Given the description of an element on the screen output the (x, y) to click on. 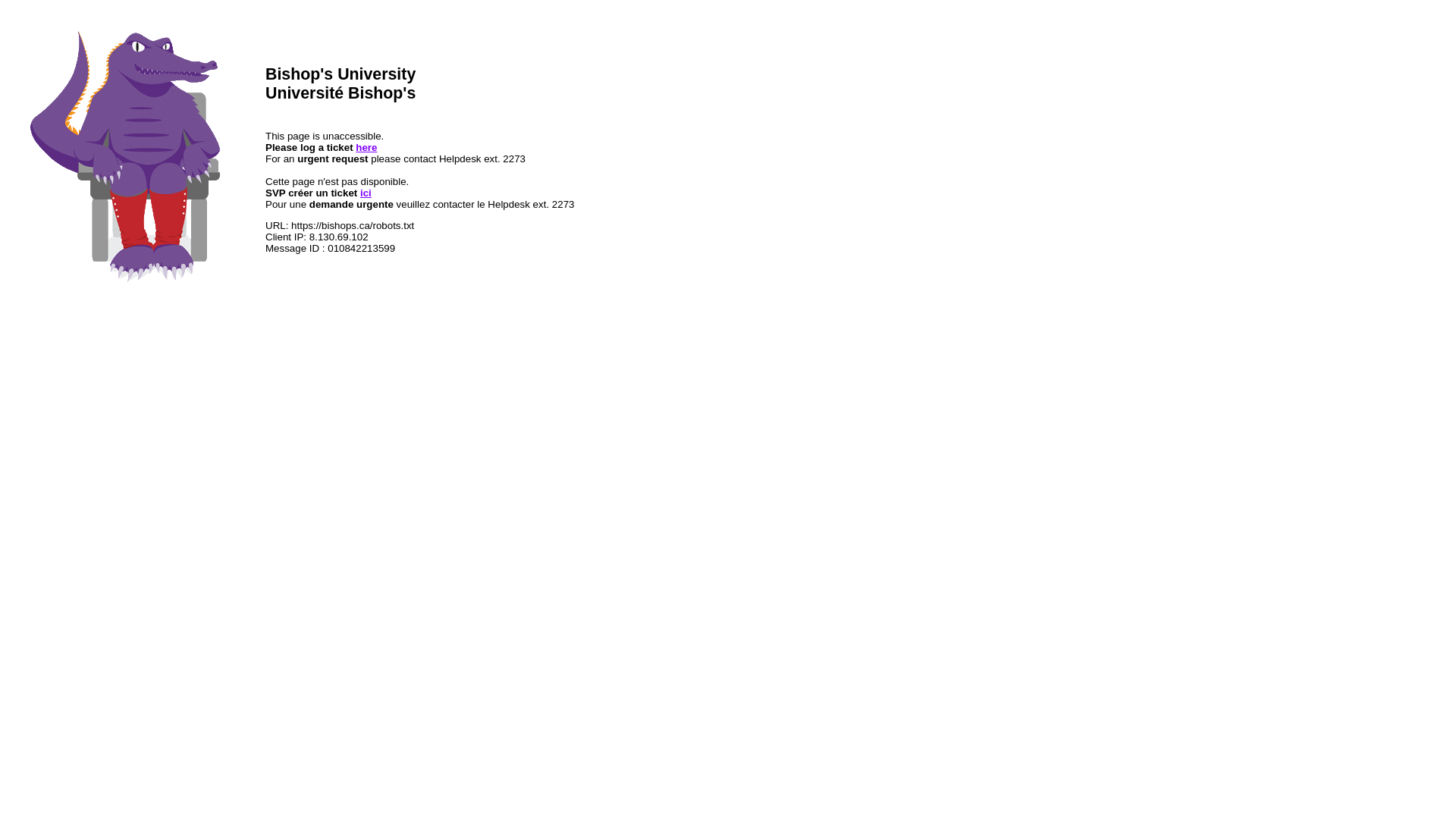
ici Element type: text (365, 192)
here Element type: text (365, 147)
